Given the description of an element on the screen output the (x, y) to click on. 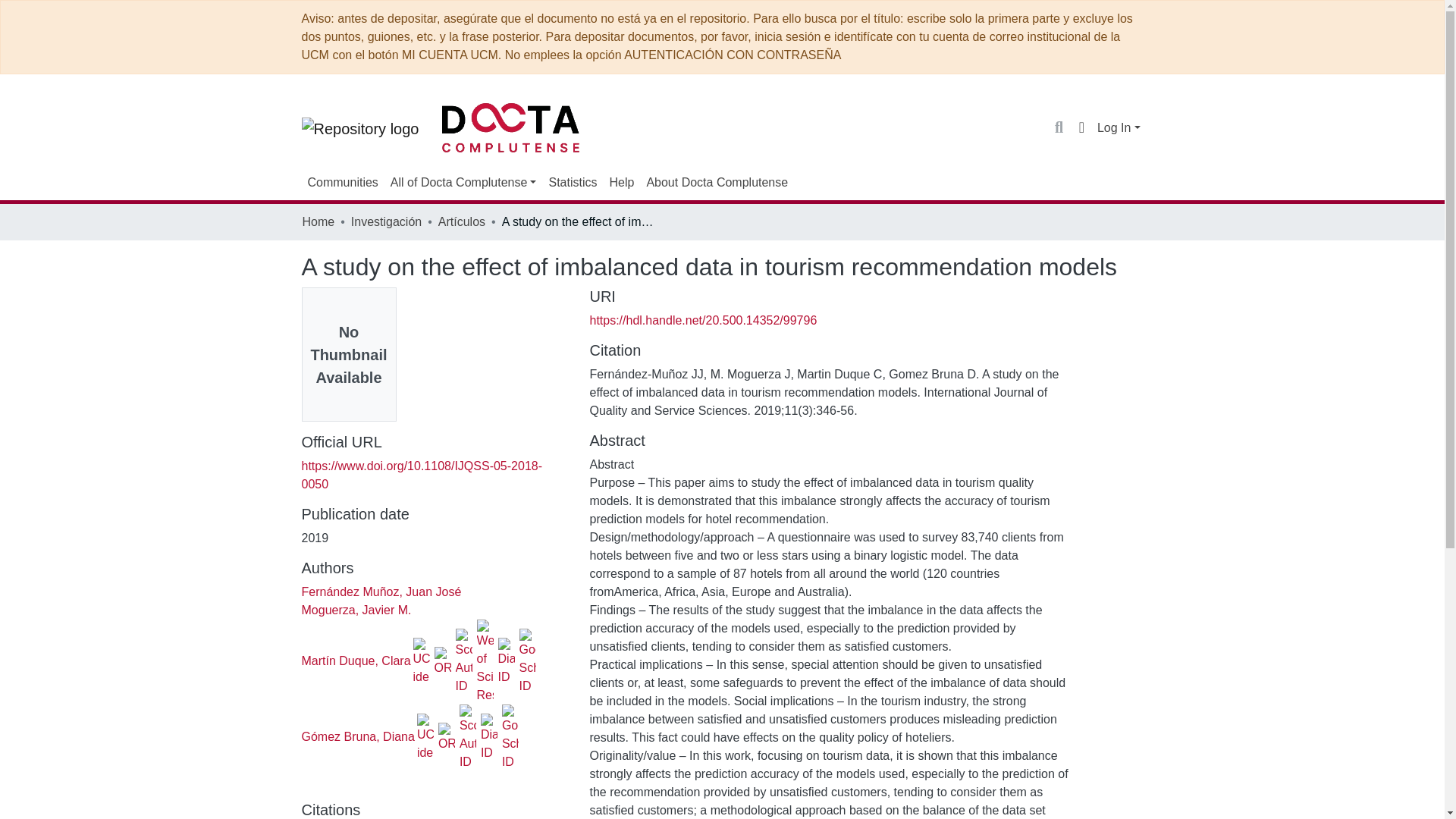
Search (1058, 127)
About Docta Complutense (716, 182)
Communities (342, 182)
Language switch (1081, 127)
Log In (1118, 127)
Moguerza, Javier M. (356, 609)
Help (621, 182)
All of Docta Complutense (463, 182)
Statistics (571, 182)
About Docta Complutense (716, 182)
